Given the description of an element on the screen output the (x, y) to click on. 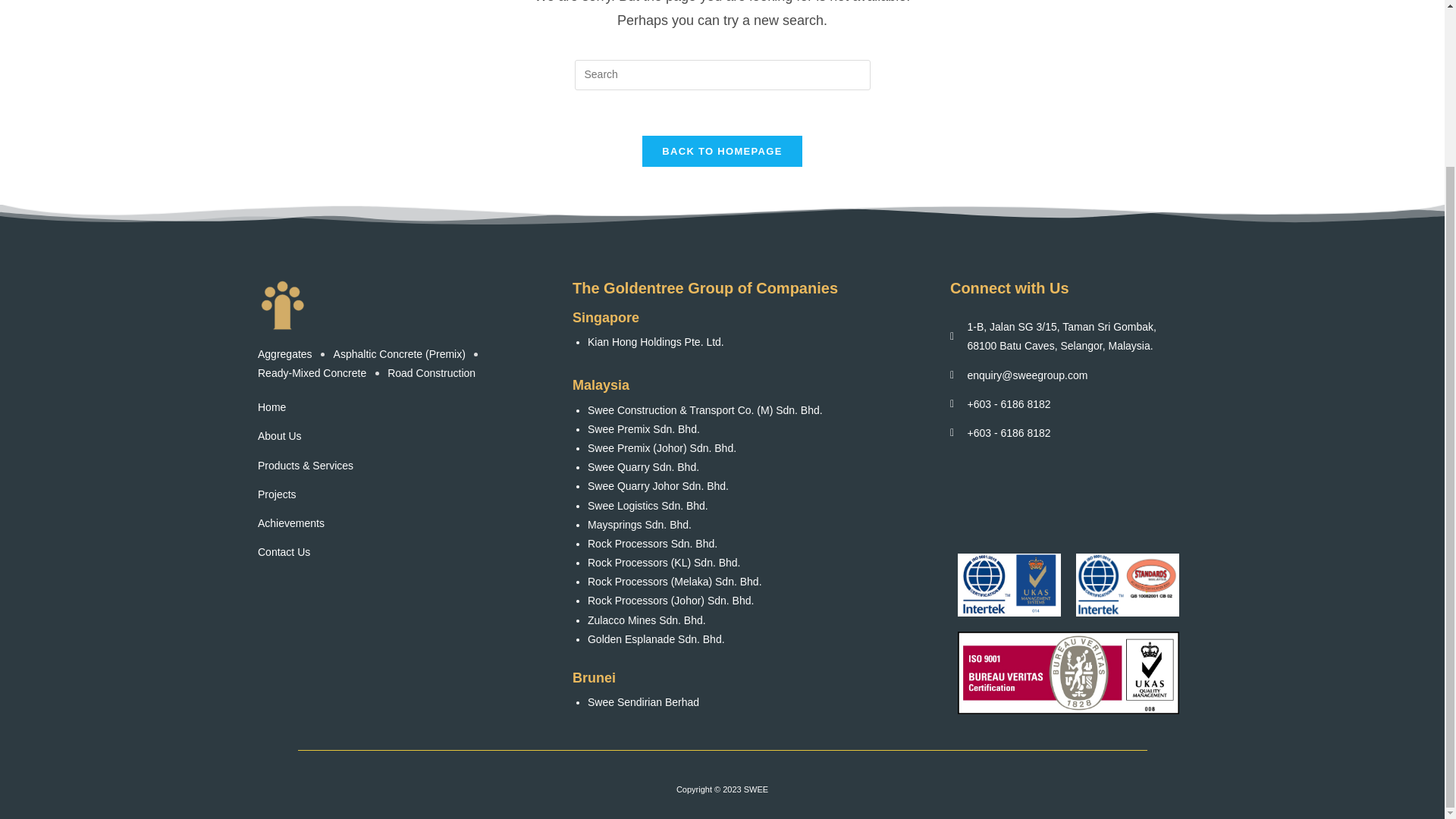
cropped-cropped-sweelogopng-1.png (282, 305)
